Given the description of an element on the screen output the (x, y) to click on. 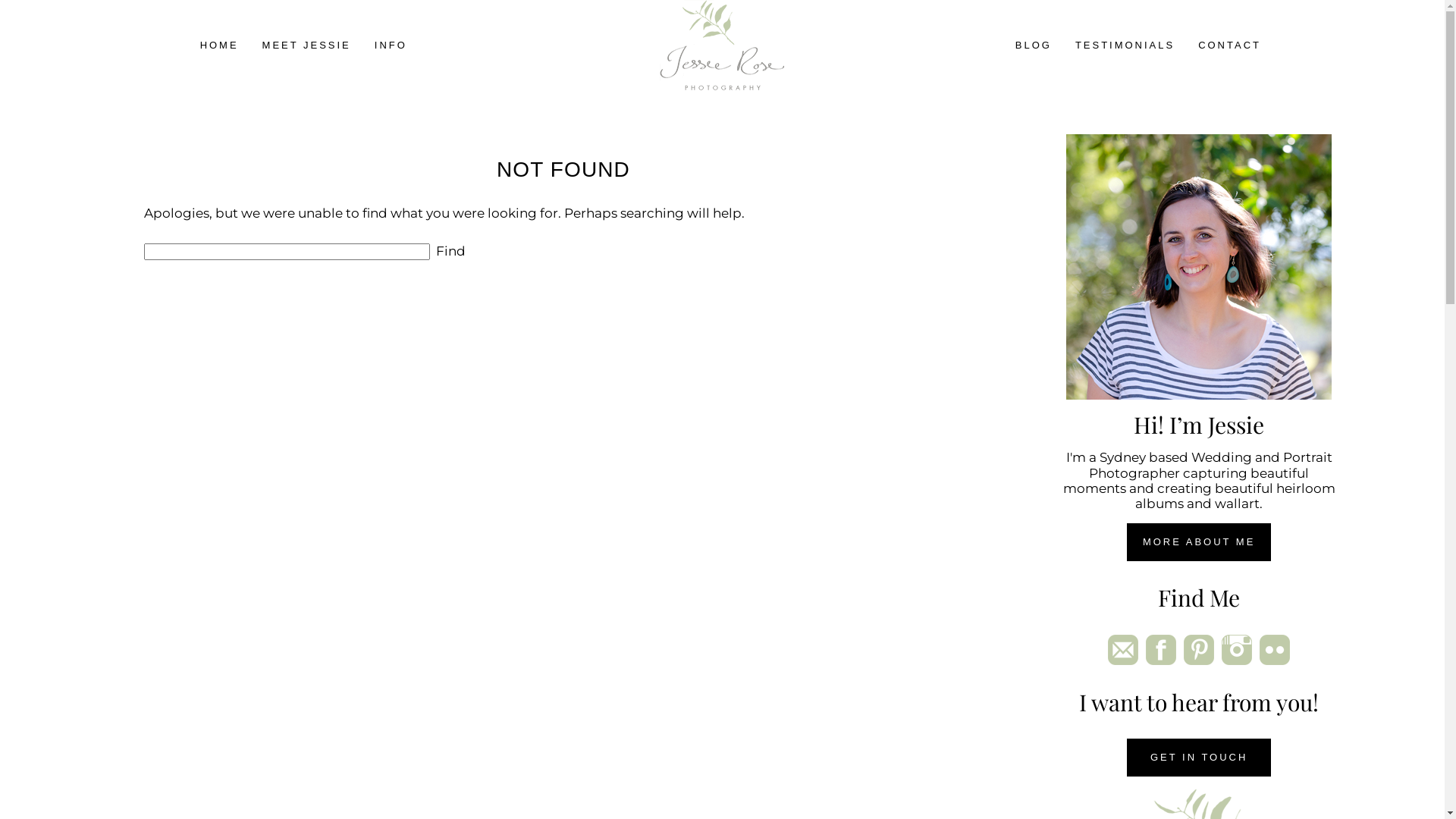
TESTIMONIALS Element type: text (1124, 45)
GET IN TOUCH Element type: text (1198, 757)
HOME Element type: text (219, 45)
Find Element type: text (450, 250)
BLOG Element type: text (1033, 45)
CONTACT Element type: text (1229, 45)
MEET JESSIE Element type: text (306, 45)
INFO Element type: text (390, 45)
MORE ABOUT ME Element type: text (1198, 542)
